Given the description of an element on the screen output the (x, y) to click on. 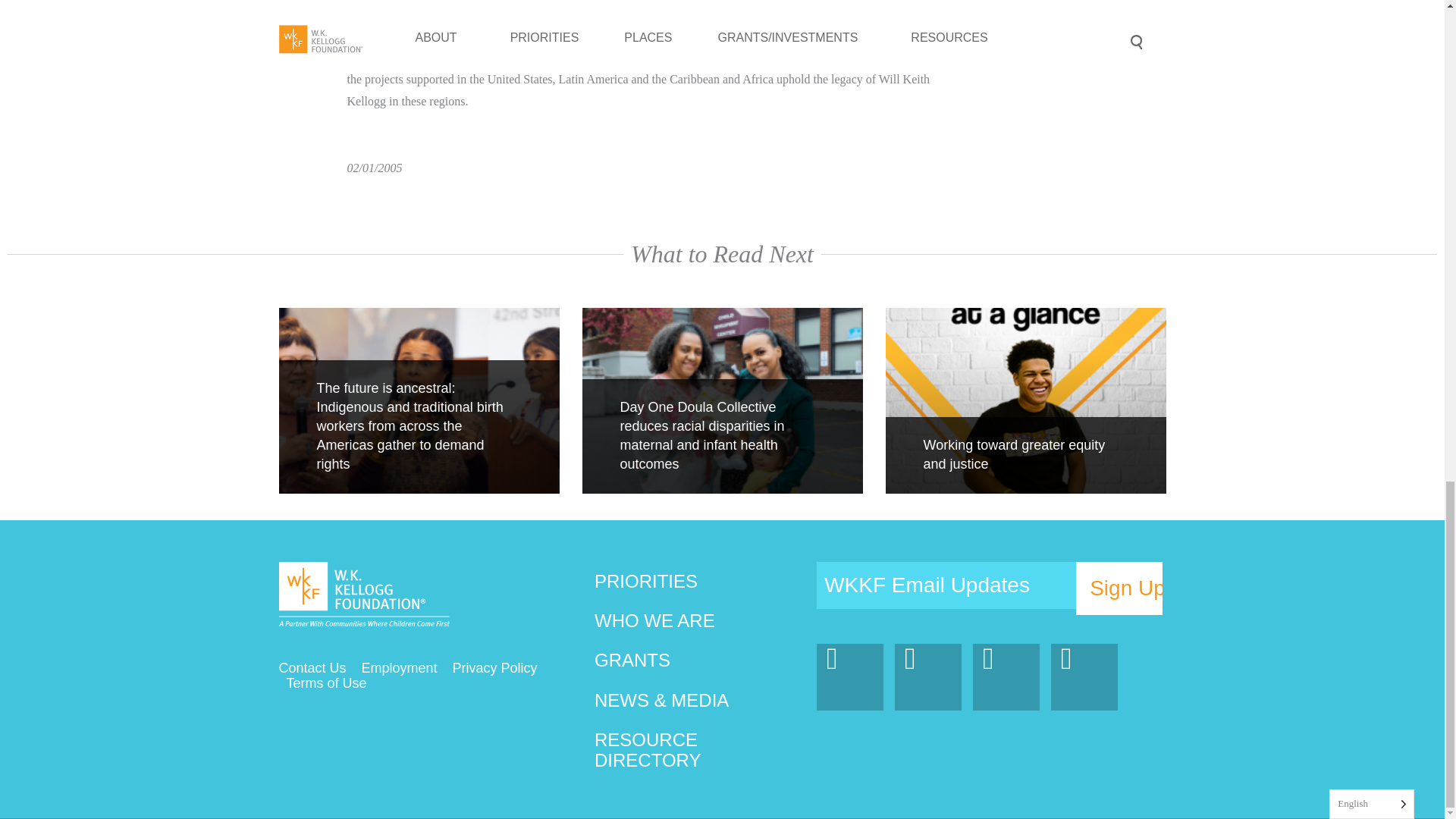
Sign Up (1118, 588)
